Given the description of an element on the screen output the (x, y) to click on. 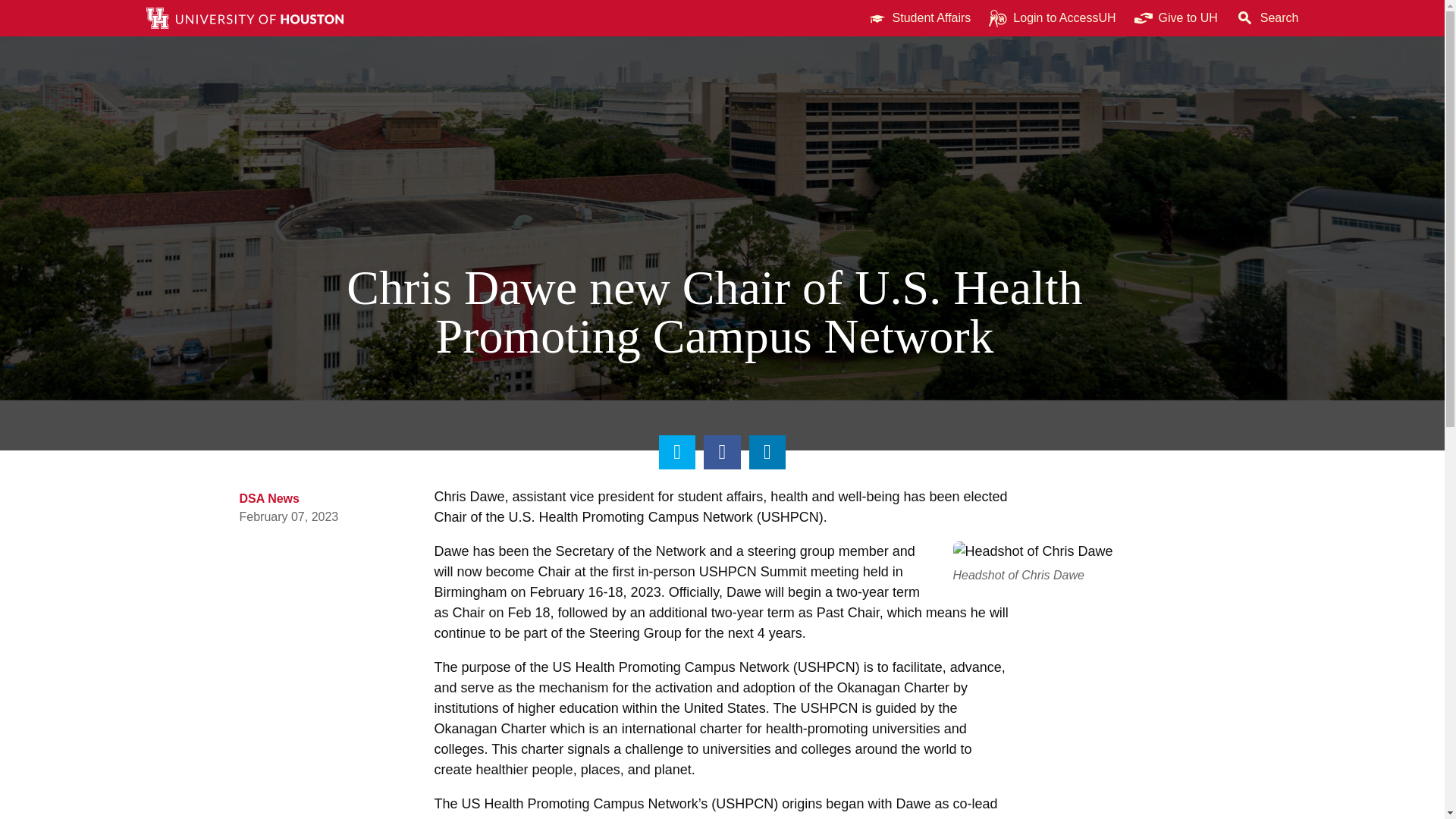
Give to UH (1176, 18)
Student Affairs (919, 18)
Search (1267, 18)
DSA News (269, 498)
Login to AccessUH (1051, 18)
University of Houston (1208, 17)
